Given the description of an element on the screen output the (x, y) to click on. 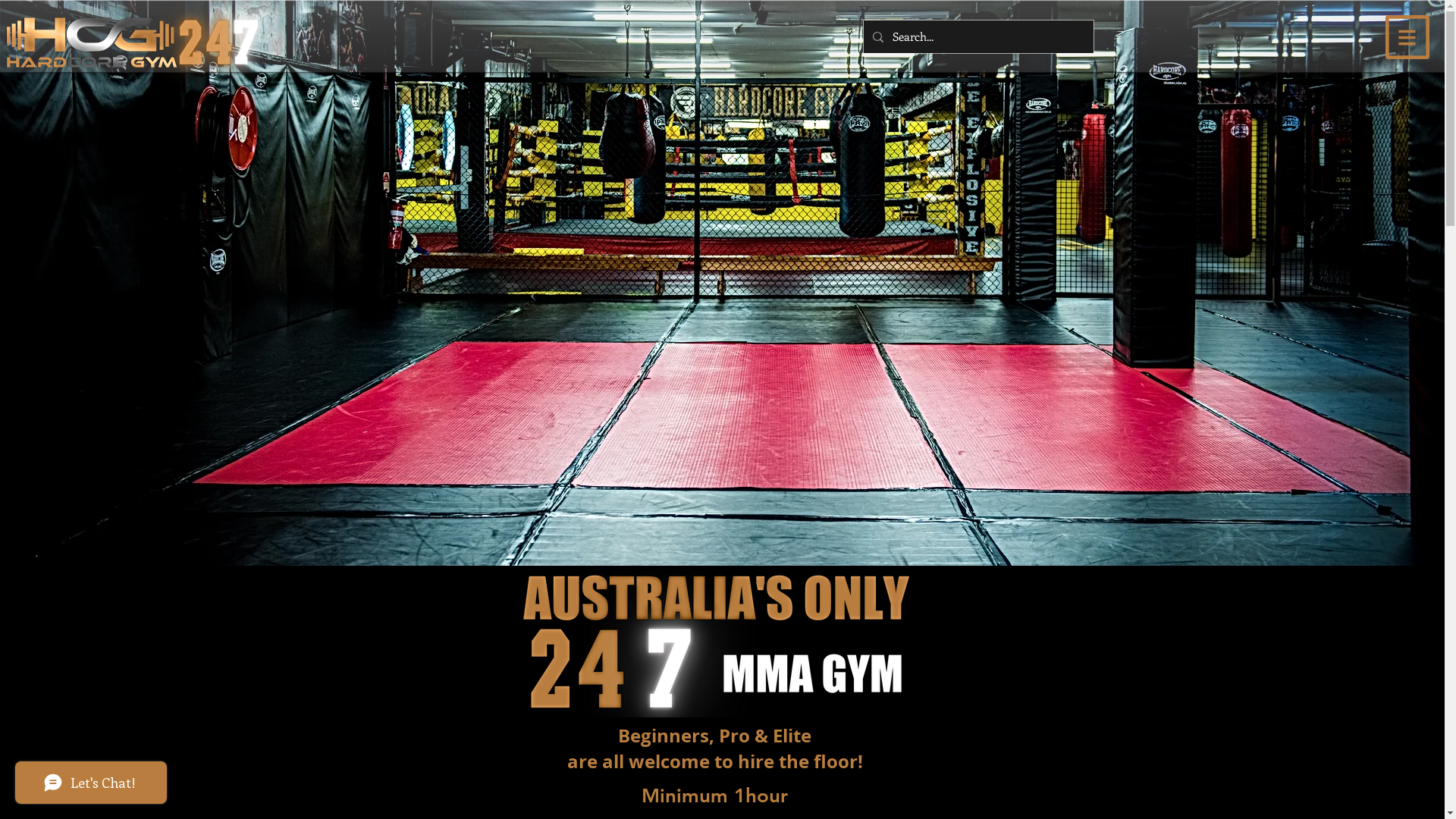
MMA Gym New.png Element type: hover (713, 641)
